Given the description of an element on the screen output the (x, y) to click on. 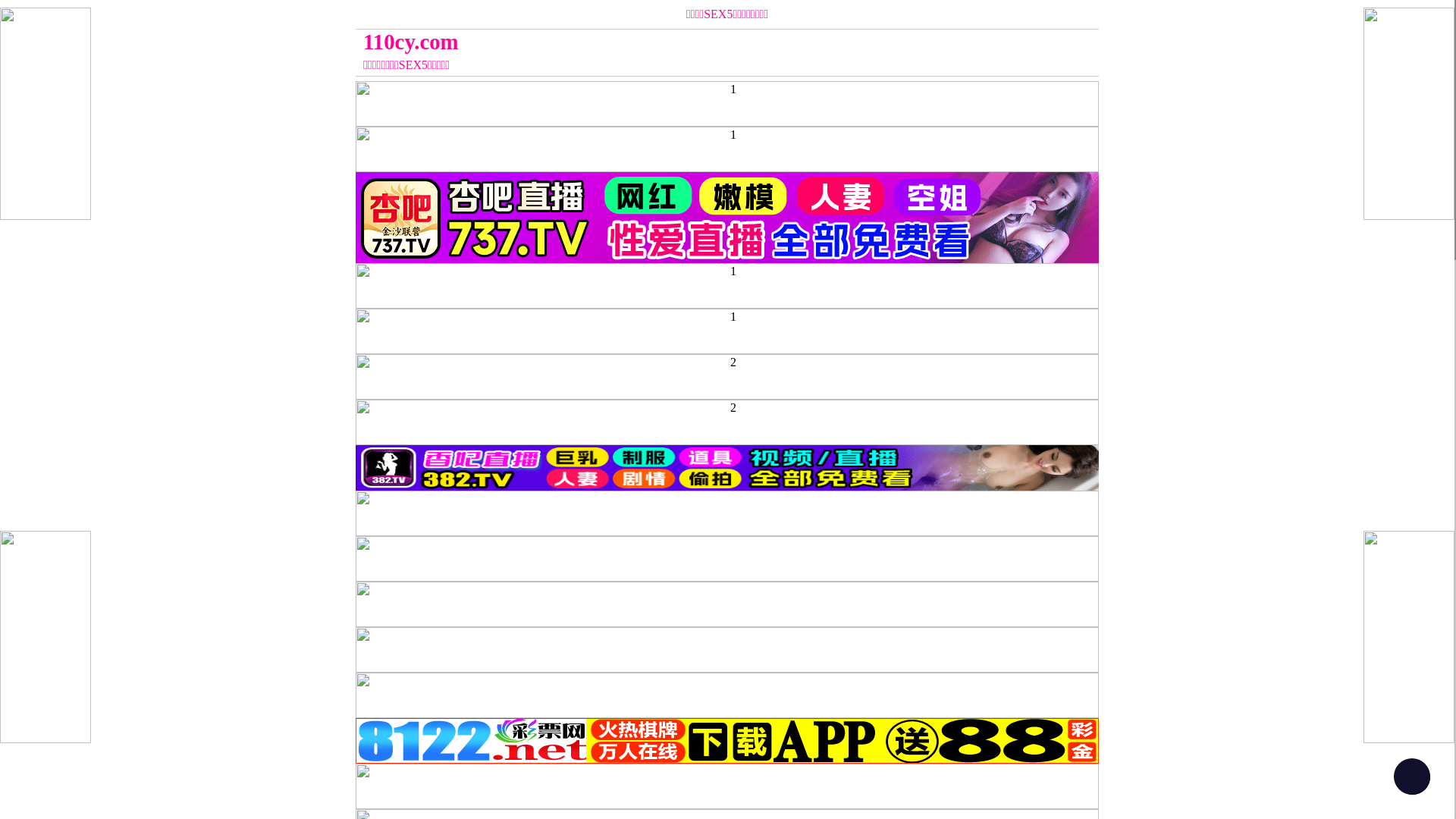
110cy.com Element type: text (634, 41)
